Given the description of an element on the screen output the (x, y) to click on. 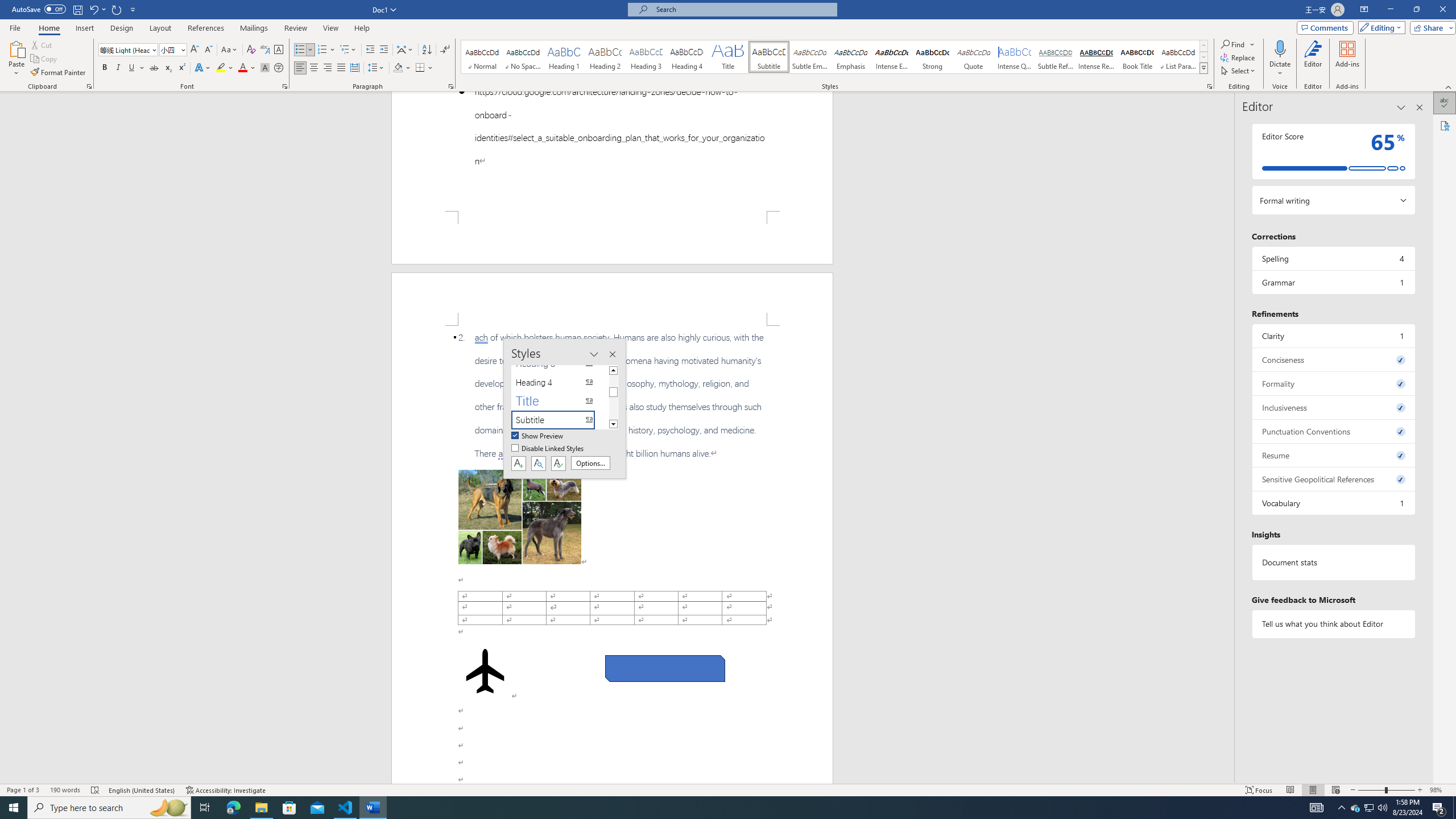
Increase Indent (383, 49)
Intense Emphasis (891, 56)
Change Case (229, 49)
Enclose Characters... (278, 67)
Align Left (300, 67)
Conciseness, 0 issues. Press space or enter to review items. (1333, 359)
Title (727, 56)
Text Highlight Color Yellow (220, 67)
Grammar, 1 issue. Press space or enter to review items. (1333, 282)
Tell us what you think about Editor (1333, 624)
Subscript (167, 67)
